Given the description of an element on the screen output the (x, y) to click on. 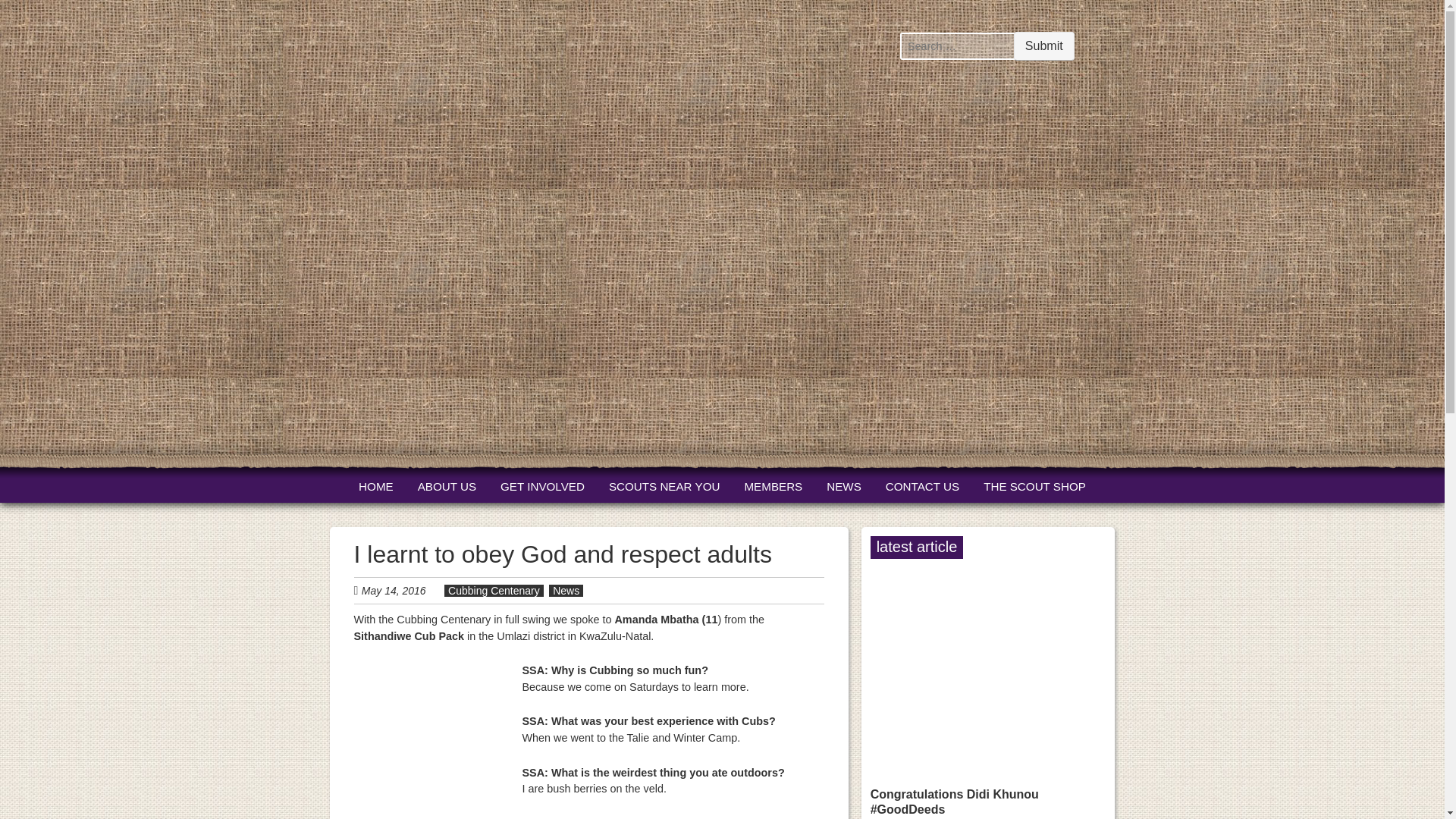
HOME (375, 487)
MEMBERS (773, 487)
Submit (1043, 45)
GET INVOLVED (542, 487)
SCOUTS South Africa (383, 411)
ABOUT US (446, 487)
Skip to content (386, 487)
SCOUTS NEAR YOU (664, 487)
Submit (1043, 45)
Skip to content (386, 487)
